Given the description of an element on the screen output the (x, y) to click on. 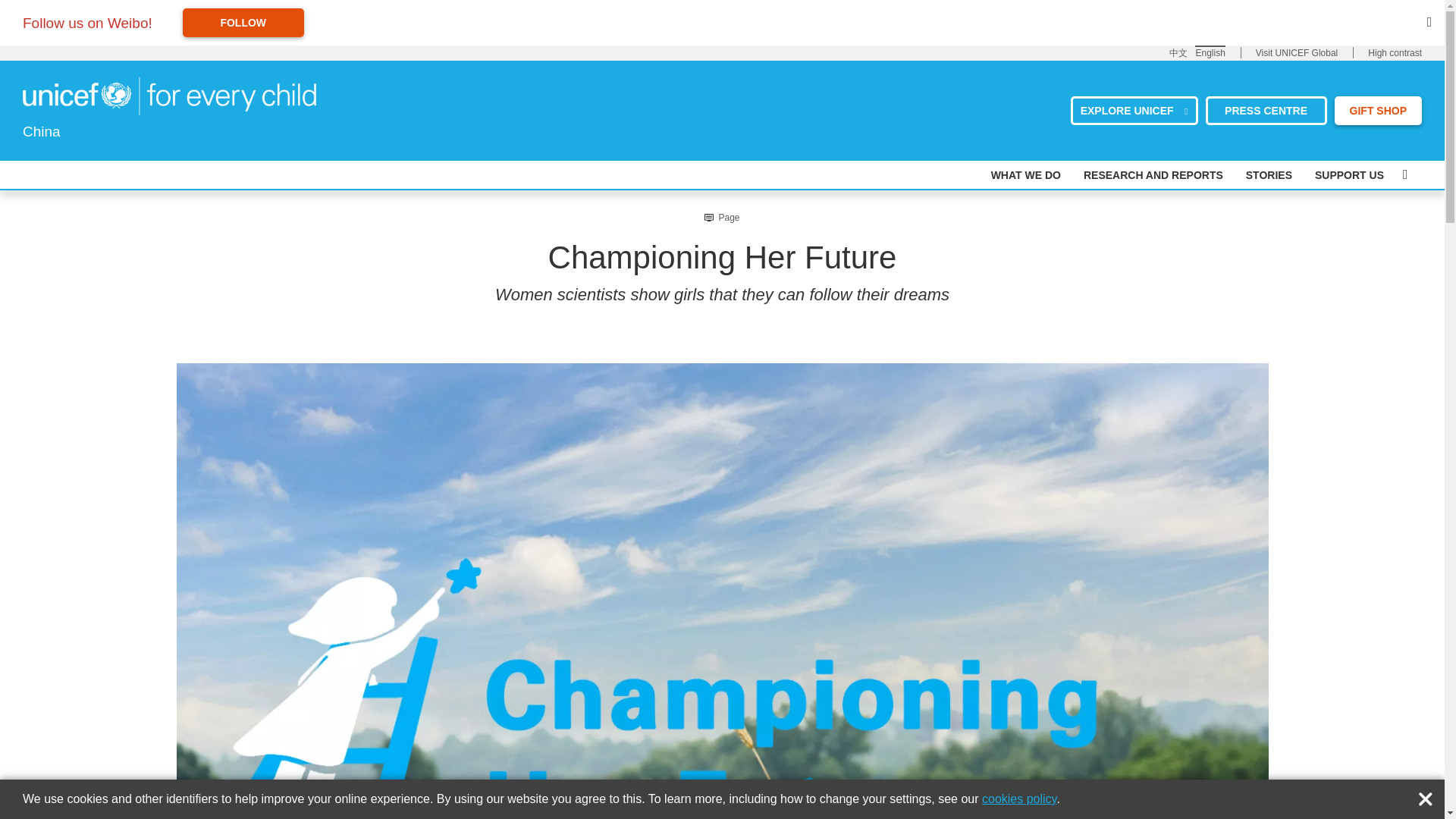
Ok (1428, 794)
RESEARCH AND REPORTS (1153, 174)
SUPPORT US (1349, 174)
High contrast (1395, 52)
cookies policy (1019, 798)
FOLLOW (243, 22)
WHAT WE DO (1026, 174)
UNICEF (169, 94)
STORIES (1269, 174)
English (1209, 51)
EXPLORE UNICEF (1134, 109)
GIFT SHOP (1378, 109)
China (169, 95)
Visit UNICEF Global (1296, 52)
